Given the description of an element on the screen output the (x, y) to click on. 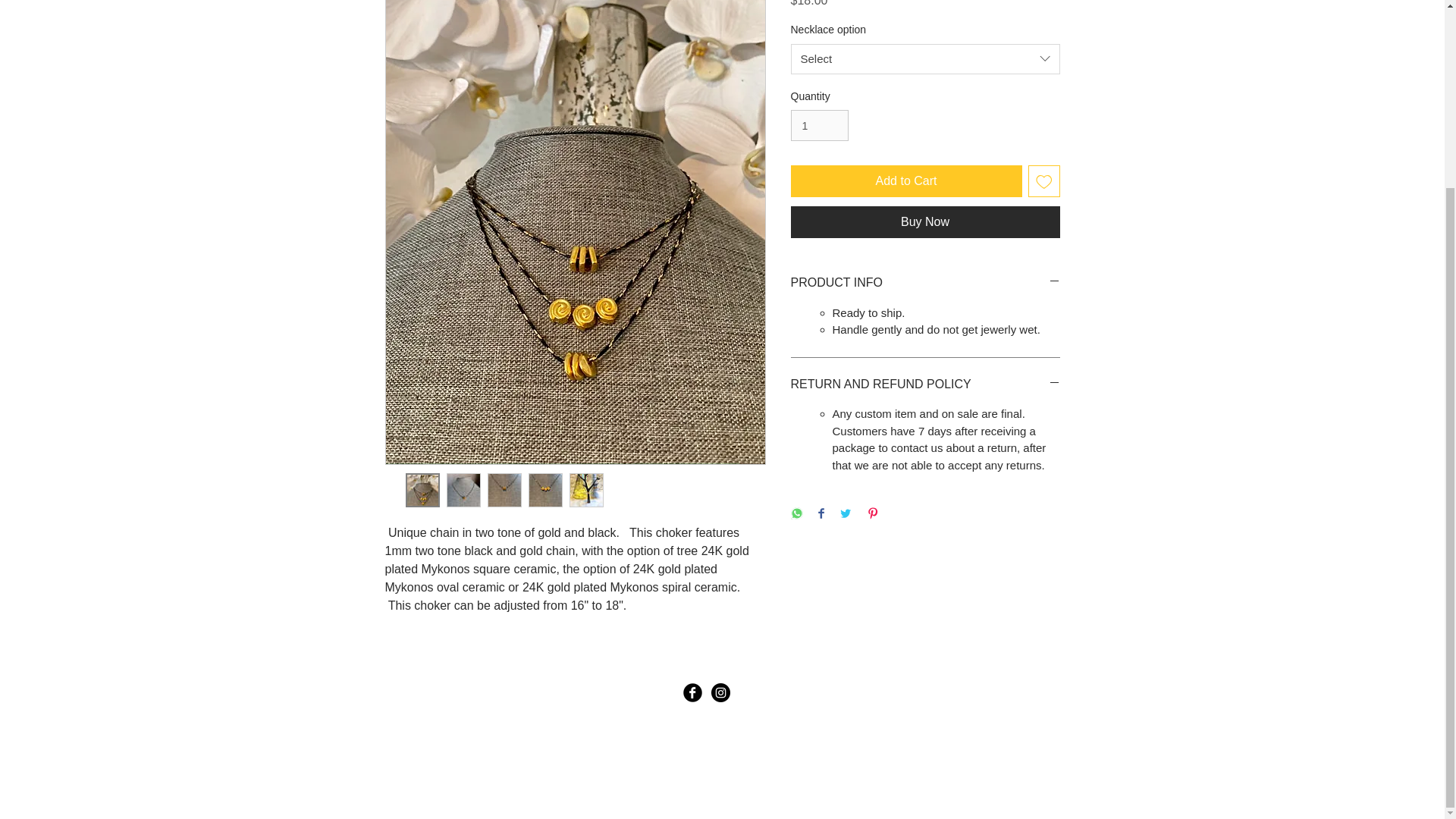
Buy Now (924, 222)
1 (818, 124)
PRODUCT INFO (924, 282)
Add to Cart (906, 181)
RETURN AND REFUND POLICY (924, 384)
Select (924, 59)
